Given the description of an element on the screen output the (x, y) to click on. 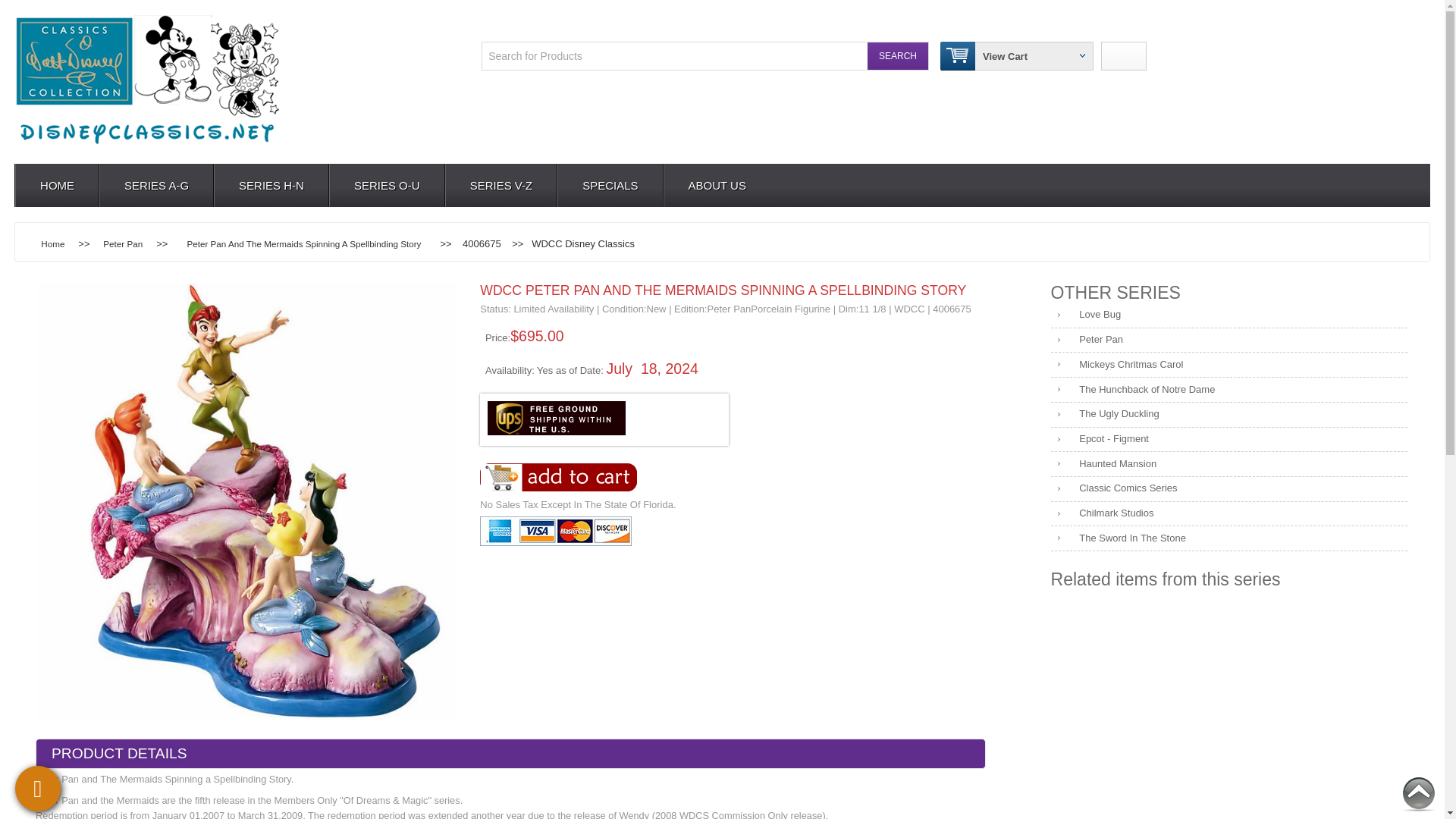
Search for Products (652, 55)
Home (52, 243)
Peter Pan (1229, 340)
Peter Pan And The Mermaids Spinning A Spellbinding Story (303, 243)
View Cart (1004, 55)
Mickeys Chritmas Carol (1229, 364)
View my shopping cart (1004, 55)
SERIES H-N (270, 185)
SEARCH (897, 55)
Chilmark Studios (1229, 514)
SPECIALS (609, 185)
The Sword In The Stone (1229, 538)
SERIES A-G (155, 185)
Haunted Mansion (1229, 464)
SERIES O-U (386, 185)
